Given the description of an element on the screen output the (x, y) to click on. 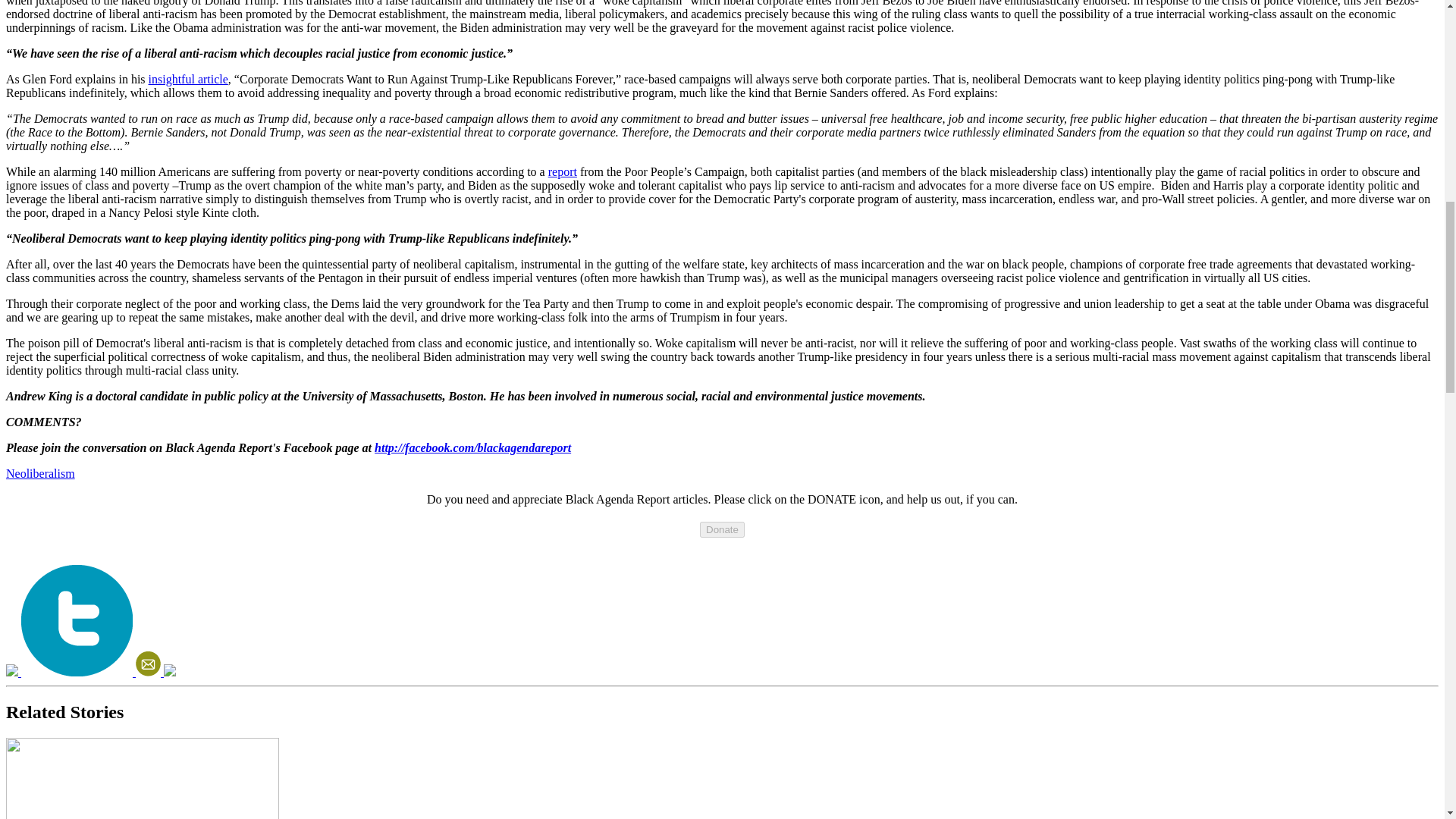
Neoliberalism (40, 472)
Donate (722, 529)
Donate (722, 528)
report (562, 171)
insightful article (188, 78)
